Given the description of an element on the screen output the (x, y) to click on. 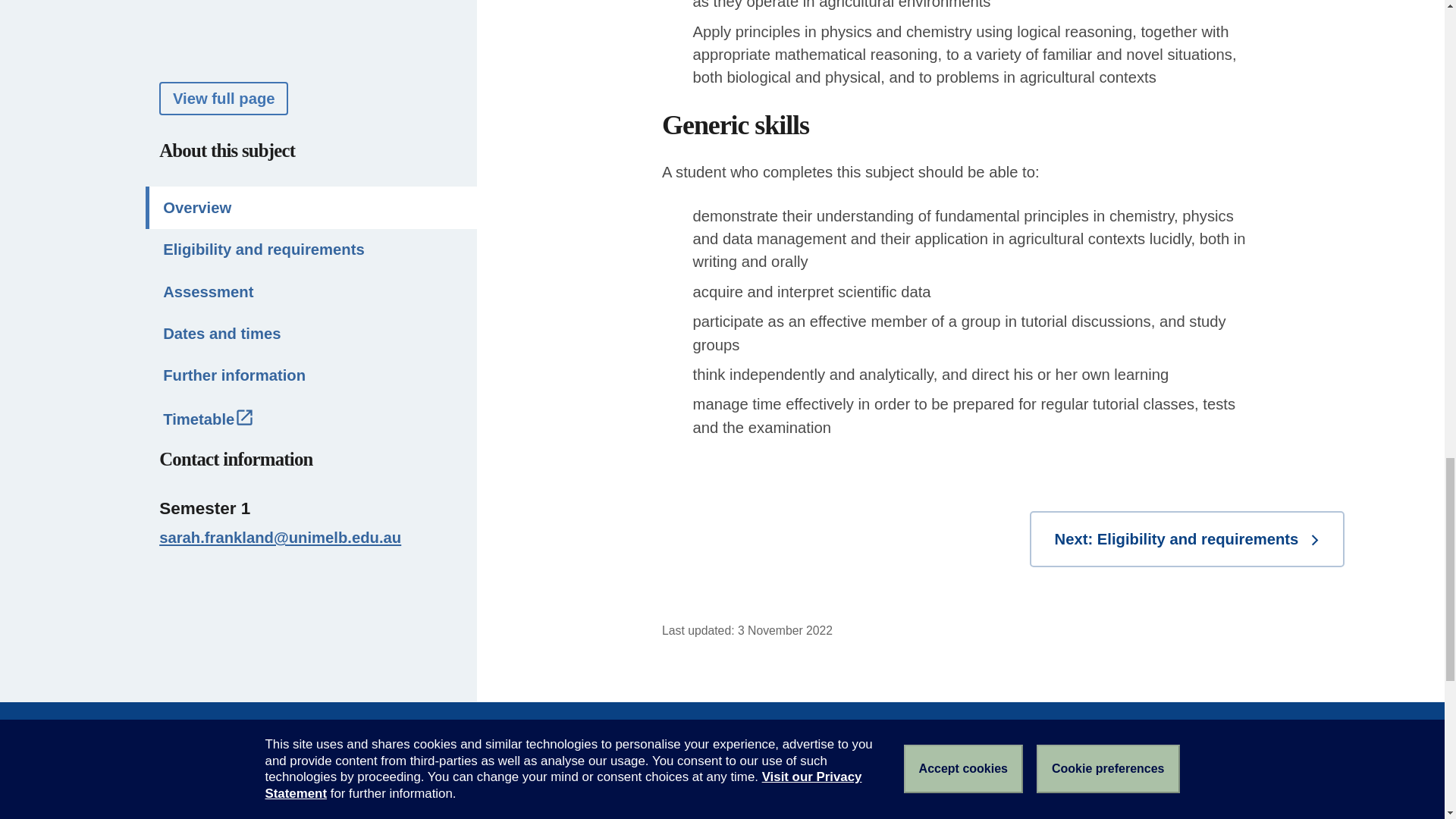
Next: Eligibility and requirements (1186, 539)
